Given the description of an element on the screen output the (x, y) to click on. 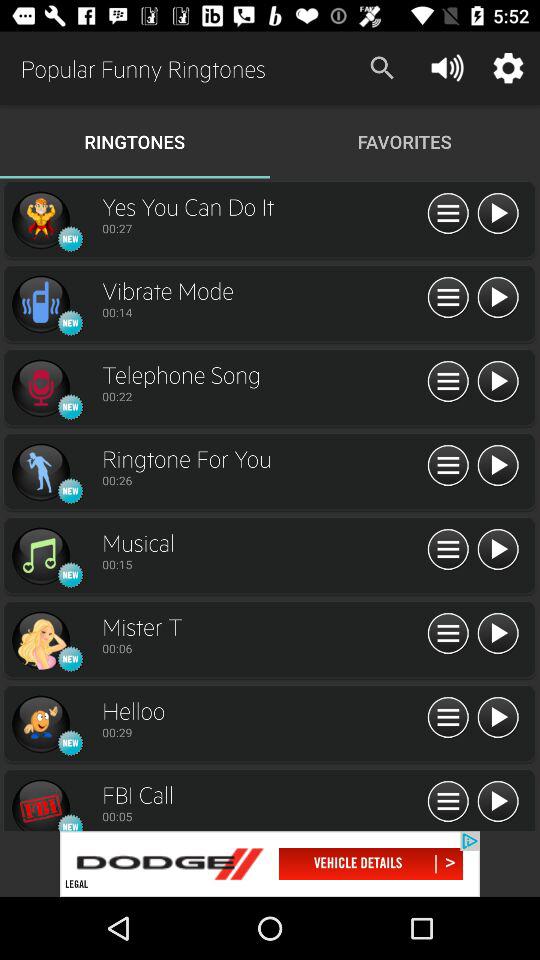
get the ringtone (40, 640)
